Given the description of an element on the screen output the (x, y) to click on. 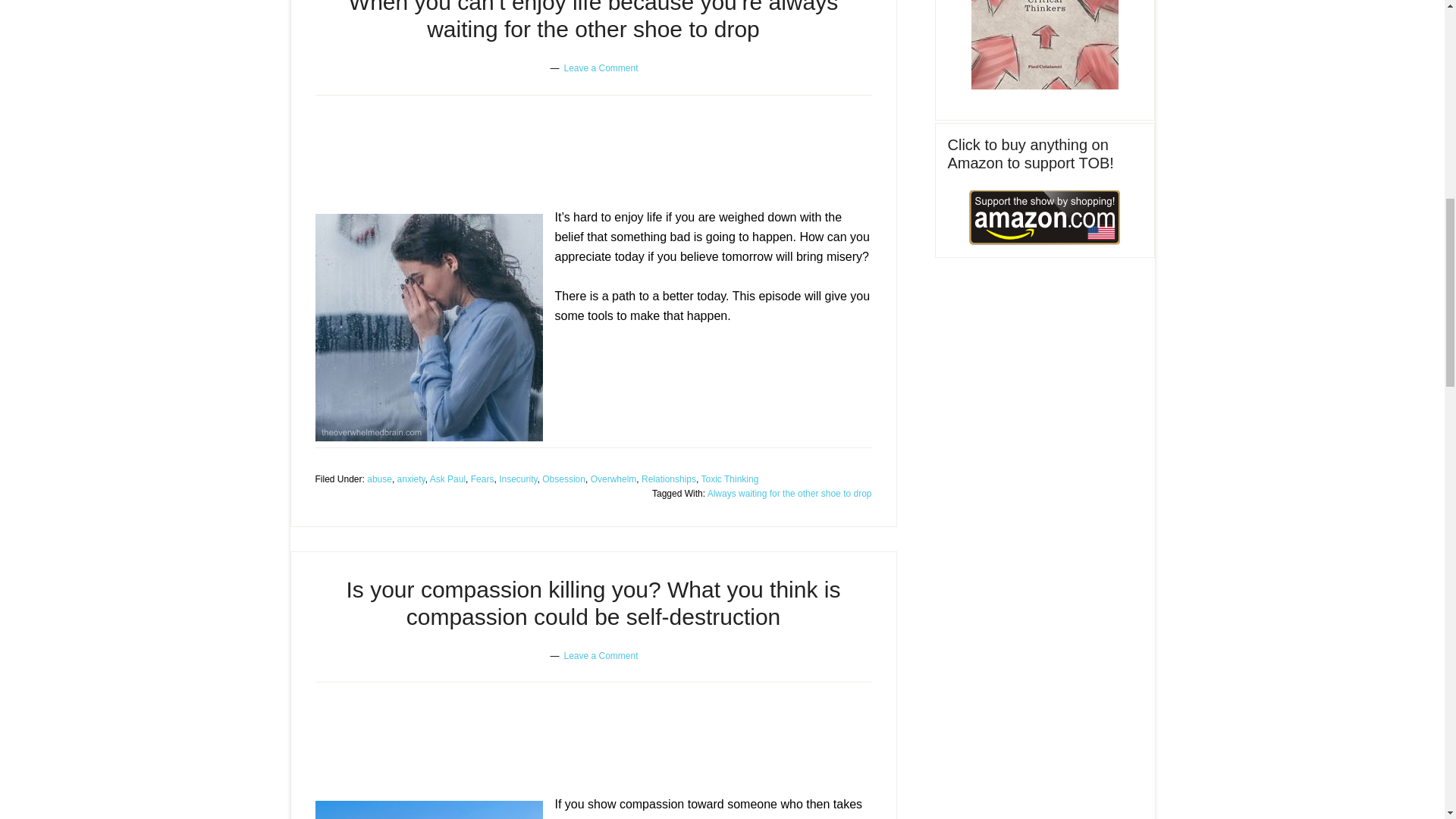
Leave a Comment (600, 68)
abuse (378, 478)
Click to buy anything on Amazon to support TOB! (1045, 217)
